Given the description of an element on the screen output the (x, y) to click on. 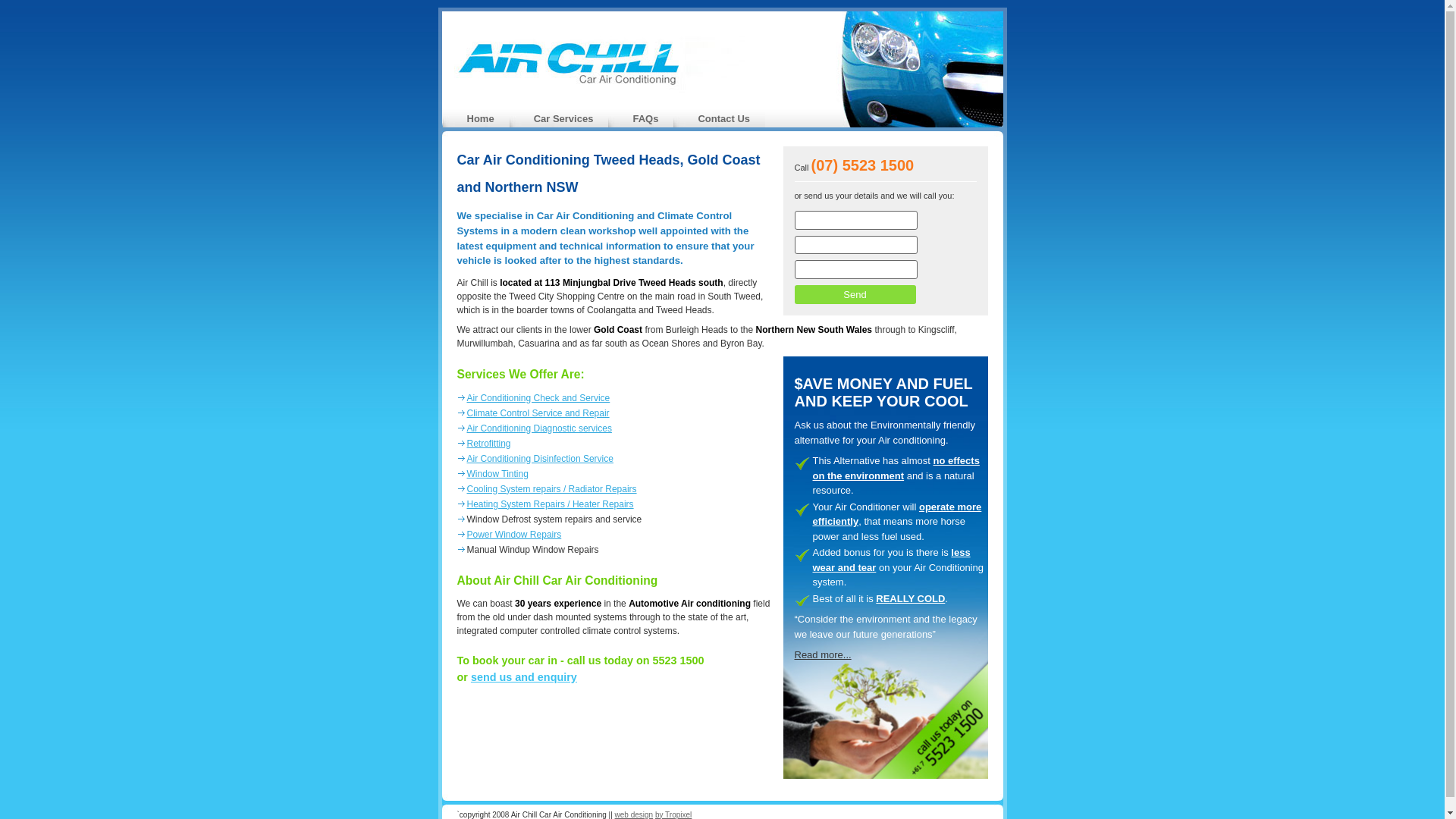
Window Tinting Element type: text (497, 473)
Car Services Element type: text (563, 118)
send us and enquiry Element type: text (523, 677)
Cooling System repairs / Radiator Repairs Element type: text (552, 488)
Air Conditioning Diagnostic services Element type: text (539, 428)
Send Element type: text (855, 294)
Air Conditioning Disinfection Service Element type: text (540, 458)
Name Element type: hover (855, 219)
Email Element type: hover (855, 269)
Power Window Repairs Element type: text (514, 534)
Retrofitting Element type: text (489, 443)
Climate Control Service and Repair Element type: text (538, 412)
Heating System Repairs / Heater Repairs Element type: text (550, 503)
FAQs Element type: text (645, 118)
Phone Element type: hover (855, 244)
Home Element type: text (480, 118)
Air Conditioning Check and Service Element type: text (538, 397)
Contact Us Element type: text (723, 118)
Read more... Element type: text (822, 654)
